Given the description of an element on the screen output the (x, y) to click on. 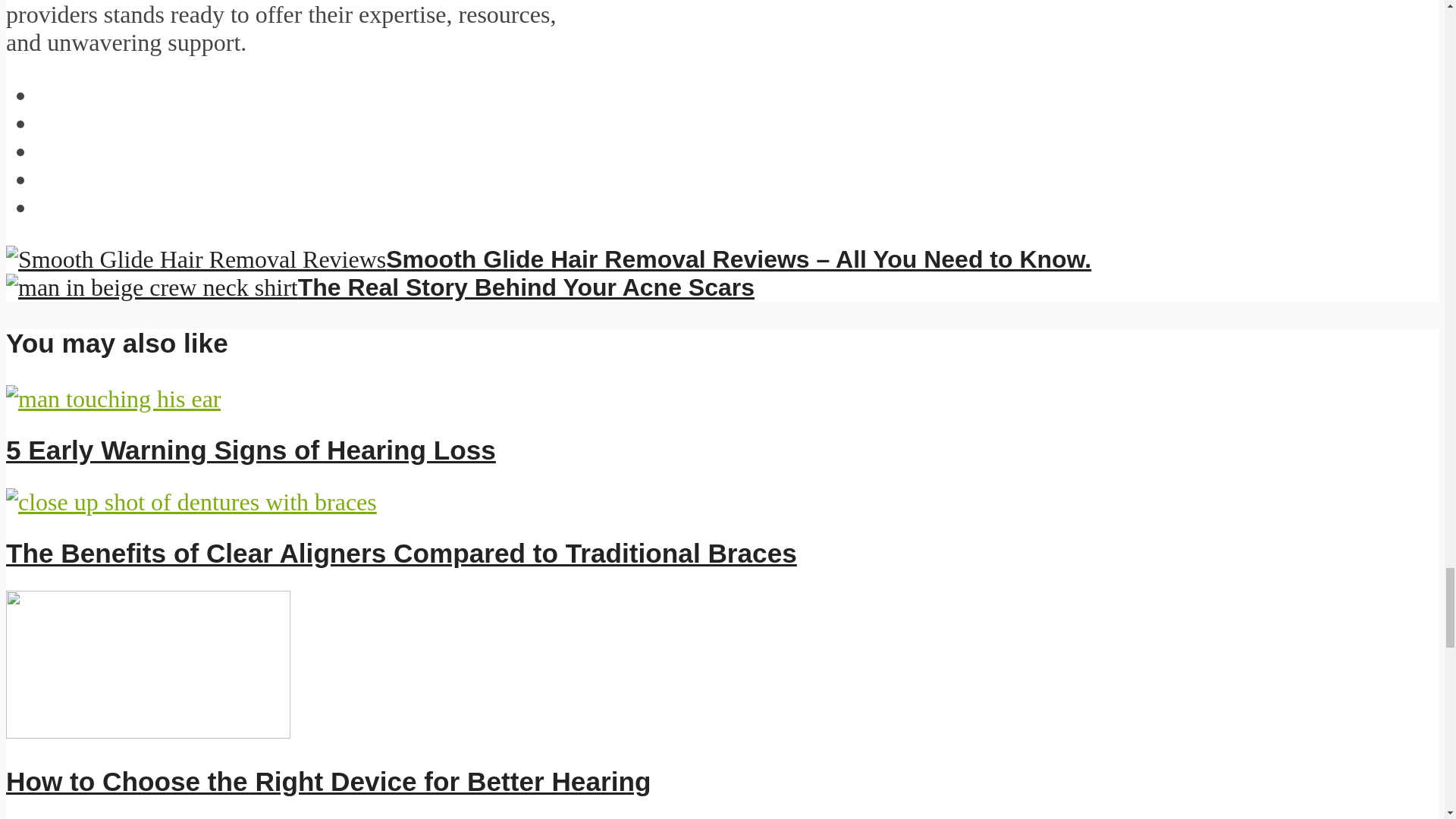
5 Early Warning Signs of Hearing Loss (113, 398)
How to Choose the Right Device for Better Hearing (327, 781)
The Real Story Behind Your Acne Scars (379, 287)
5 Early Warning Signs of Hearing Loss (250, 449)
How to Choose the Right Device for Better Hearing (327, 781)
5 Early Warning Signs of Hearing Loss (250, 449)
How to Choose the Right Device for Better Hearing (147, 729)
